Given the description of an element on the screen output the (x, y) to click on. 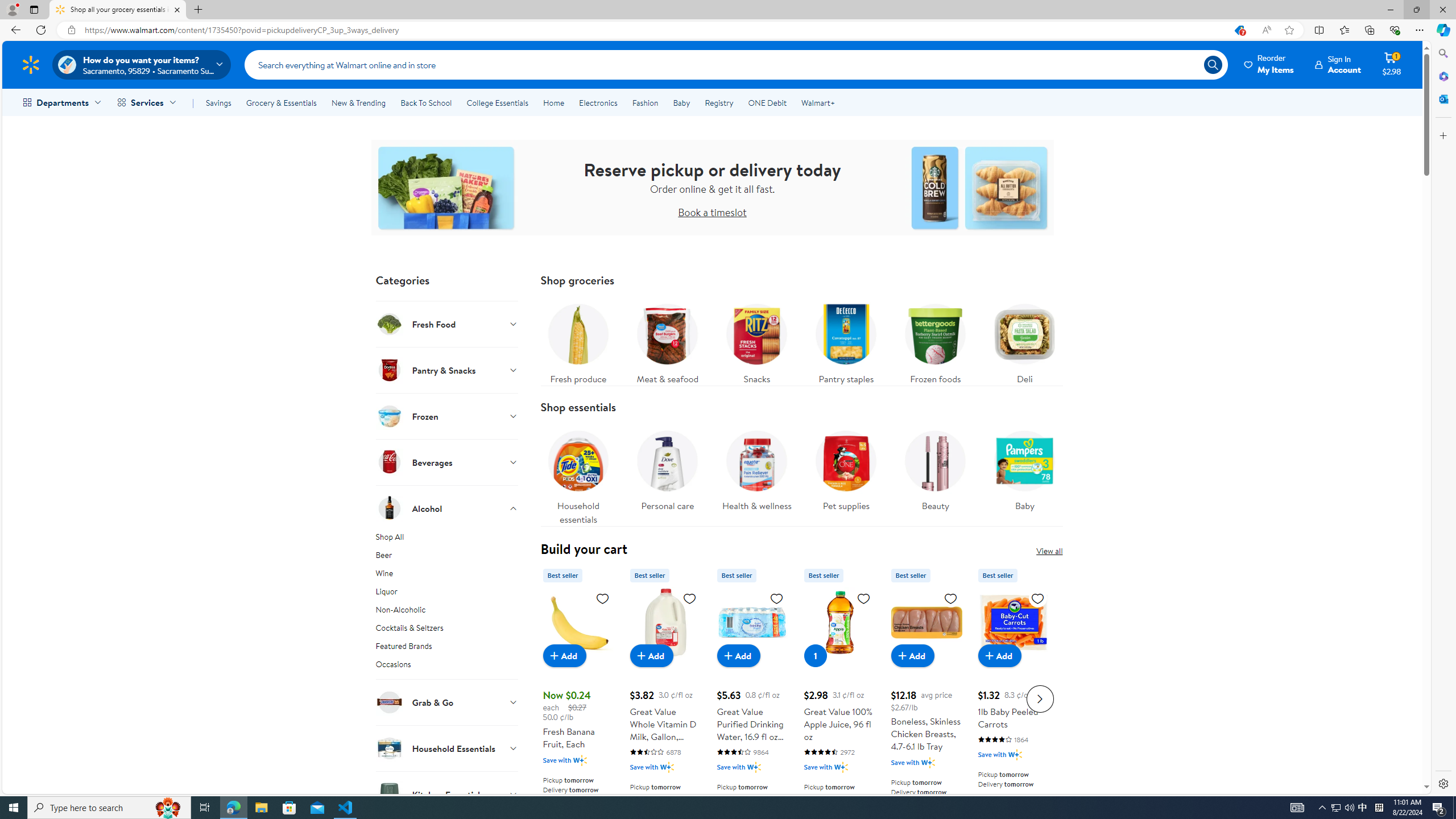
Pantry staples (845, 340)
Browser essentials (1394, 29)
Cocktails & Seltzers (446, 630)
Featured Brands (446, 648)
Microsoft 365 (1442, 76)
Pantry staples (845, 340)
ONE Debit (767, 102)
Split screen (1318, 29)
Tab actions menu (33, 9)
Home (553, 102)
